Given the description of an element on the screen output the (x, y) to click on. 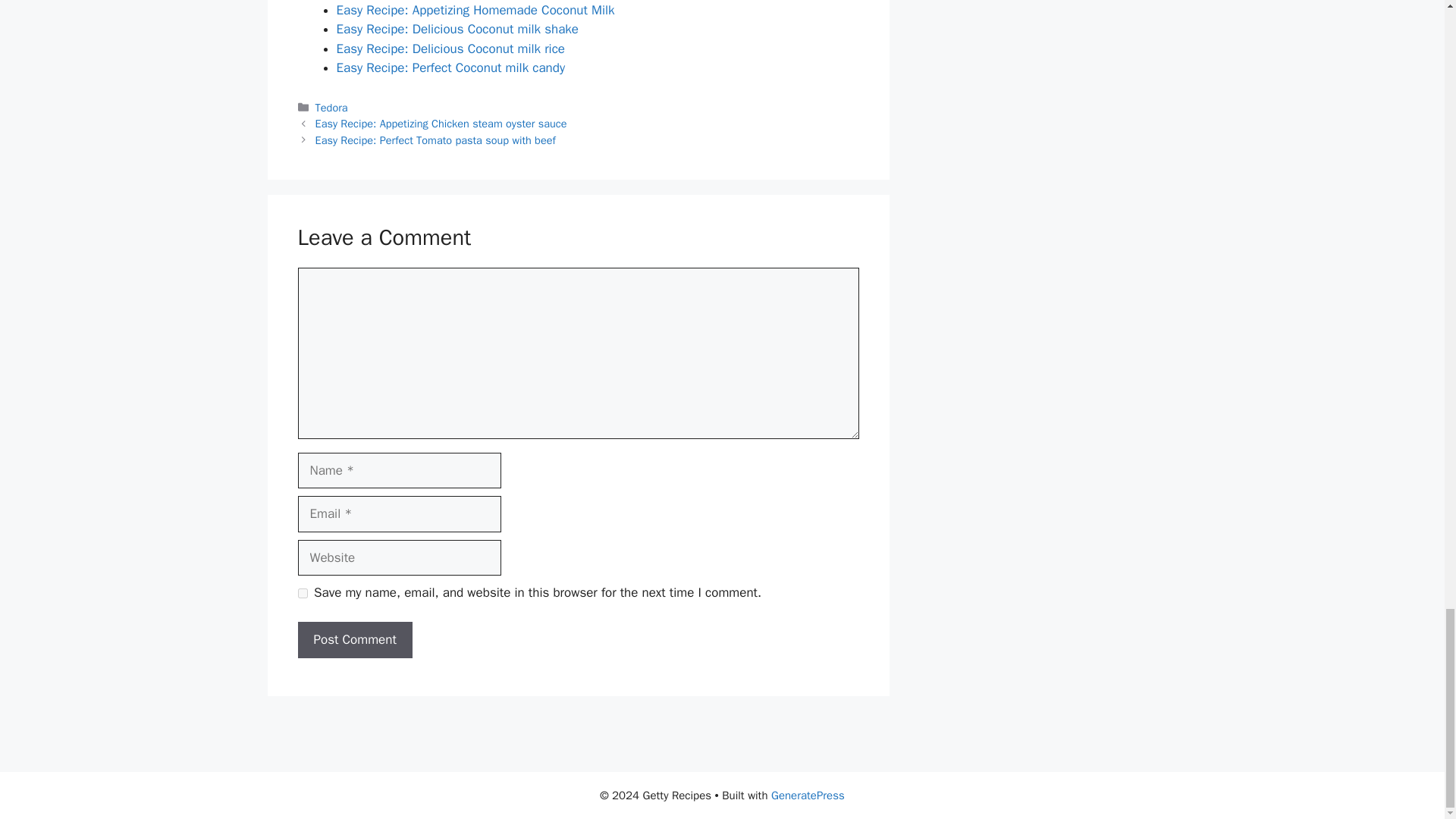
Easy Recipe: Appetizing Homemade Coconut Milk (475, 10)
Easy Recipe: Perfect Coconut milk candy (451, 67)
Post Comment (354, 639)
Easy Recipe: Delicious Coconut milk rice (450, 48)
Easy Recipe: Appetizing Chicken steam oyster sauce (441, 123)
Post Comment (354, 639)
Easy Recipe: Perfect Tomato pasta soup with beef (435, 140)
Tedora (331, 107)
Easy Recipe: Delicious Coconut milk shake (457, 28)
Advertisement (721, 741)
